Given the description of an element on the screen output the (x, y) to click on. 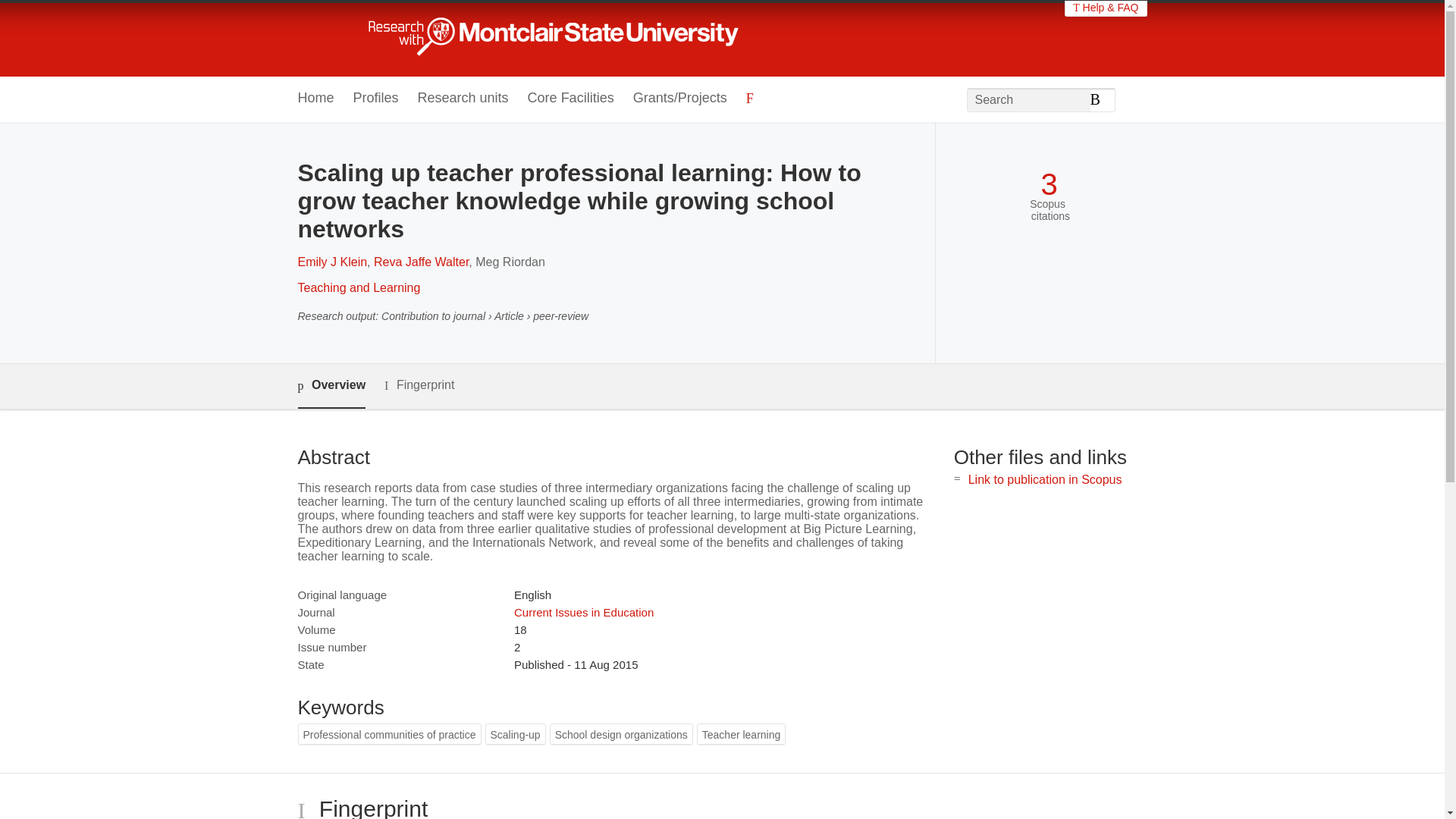
Current Issues in Education (583, 612)
Fingerprint (419, 385)
Teaching and Learning (358, 287)
Profiles (375, 98)
Overview (331, 385)
Core Facilities (570, 98)
Reva Jaffe Walter (421, 261)
Emily J Klein (331, 261)
Montclair State University Home (567, 38)
